Given the description of an element on the screen output the (x, y) to click on. 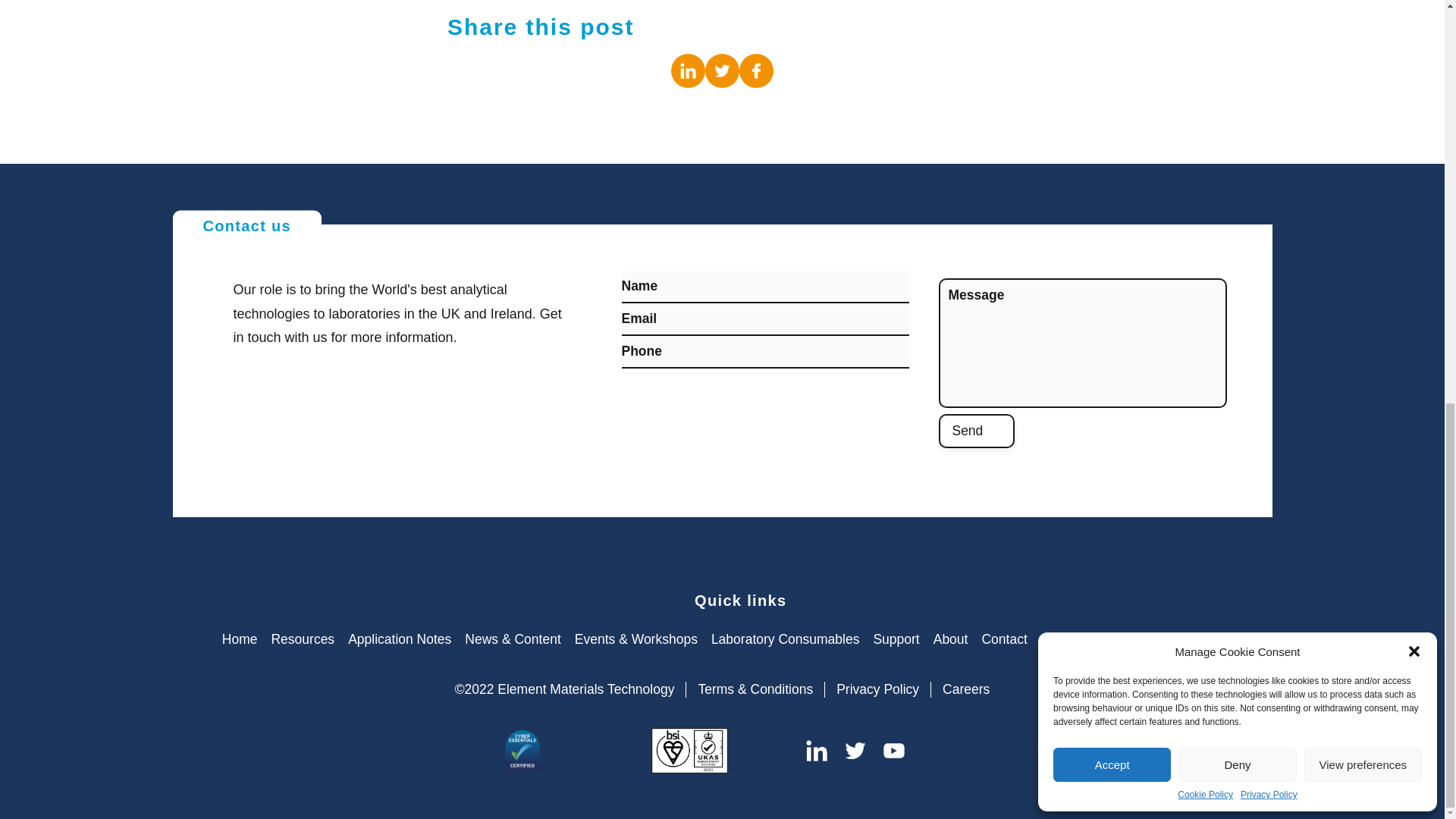
LinkedIn (687, 70)
Privacy Policy (1268, 2)
Home (239, 639)
About (950, 639)
Facebook (756, 70)
Send (976, 430)
Resources (302, 639)
Cookie Policy (1205, 2)
Twitter (721, 70)
Contact (1003, 639)
Support (895, 639)
Laboratory Consumables (785, 639)
Application Notes (399, 639)
